Given the description of an element on the screen output the (x, y) to click on. 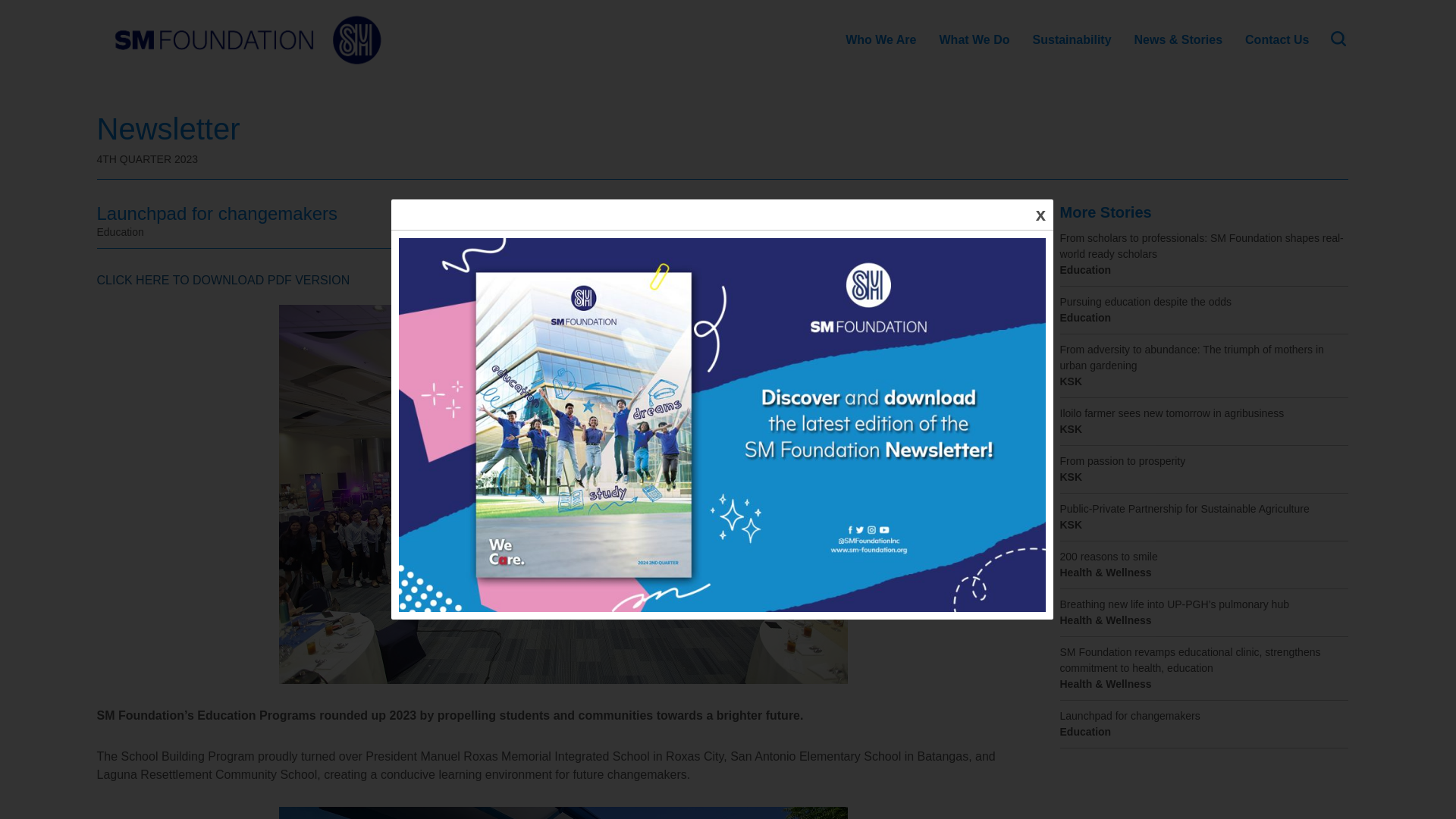
Public-Private Partnership for Sustainable Agriculture (1203, 508)
Iloilo farmer sees new tomorrow in agribusiness (1203, 413)
twitter (1018, 220)
From passion to prosperity (1203, 461)
Share on Twitter (1018, 220)
facebook (991, 220)
Pursuing education despite the odds (1203, 302)
Share on Facebook (991, 220)
